Given the description of an element on the screen output the (x, y) to click on. 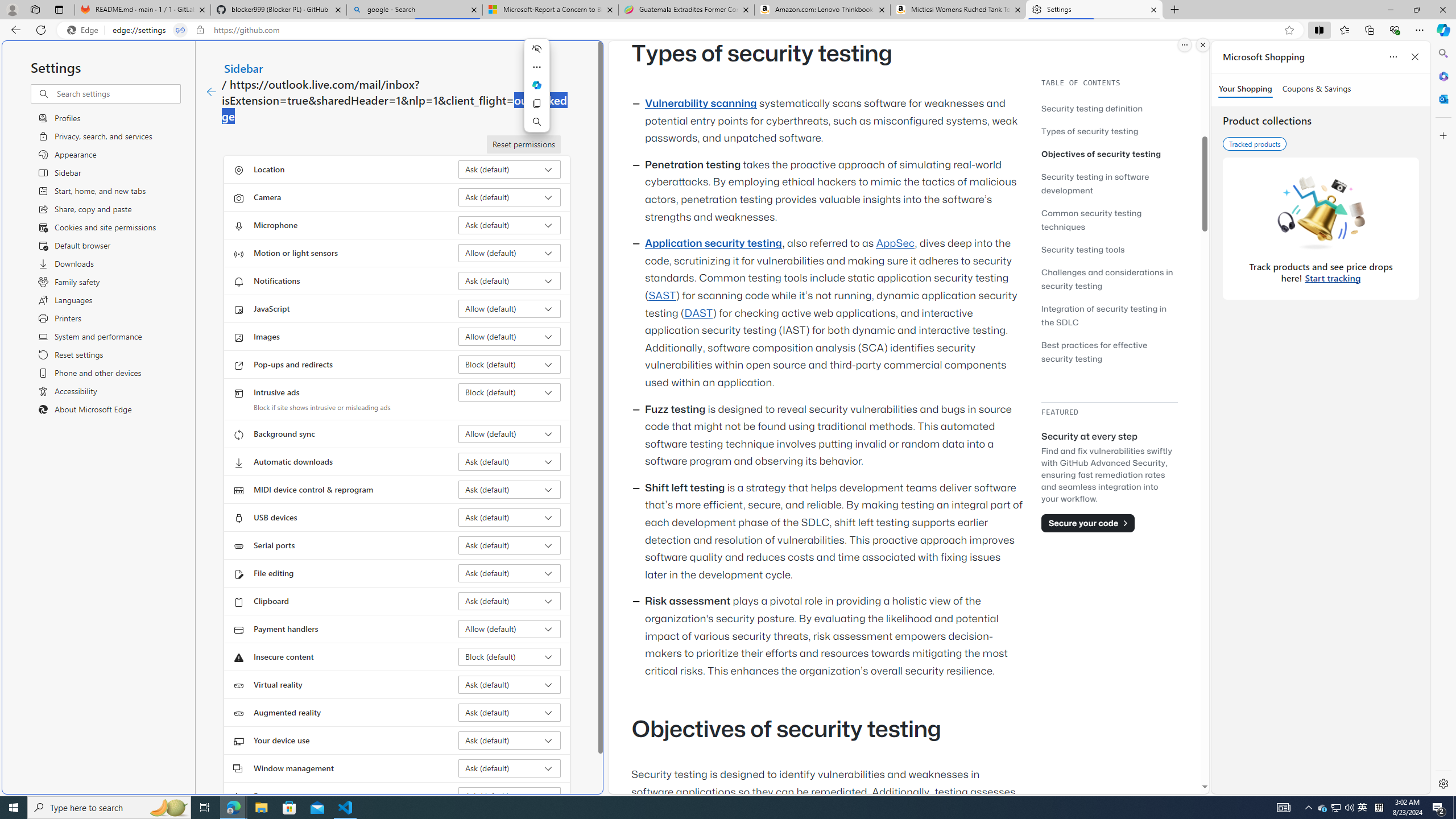
Your device use Ask (default) (509, 740)
Common security testing techniques (1109, 219)
Security testing in software development (1109, 183)
Images Allow (default) (509, 336)
Fonts Ask (default) (509, 796)
Objectives of security testing (1101, 153)
Secure your code (1088, 522)
Security testing definition (1109, 108)
